Given the description of an element on the screen output the (x, y) to click on. 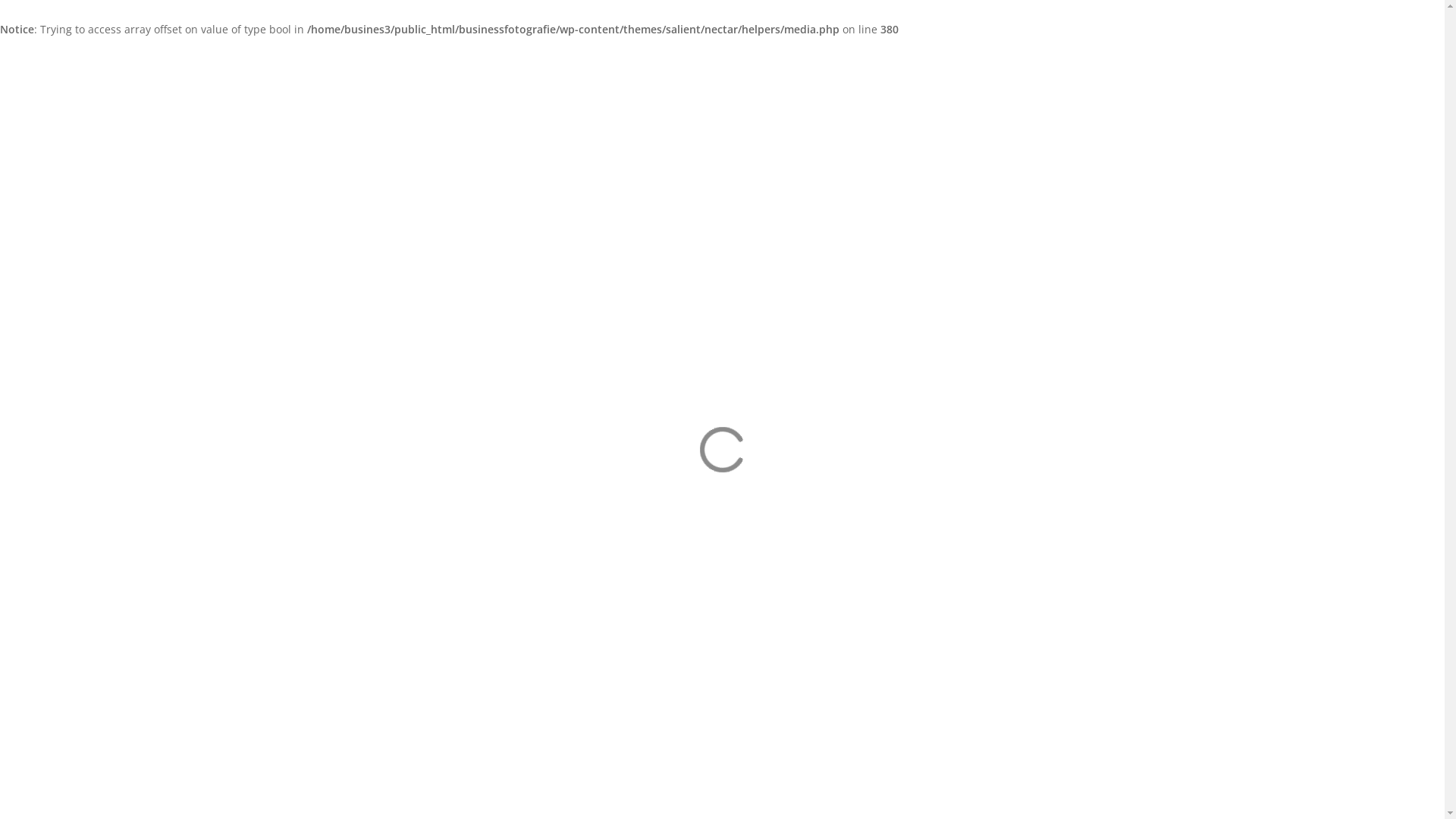
Kontaktanfrage Element type: text (911, 744)
Businessfotos Element type: text (339, 575)
Mitarbeiterfotos Element type: text (345, 615)
www.carolefleischmann.ch Element type: text (940, 669)
Fotoshootings Element type: text (339, 556)
Home Element type: text (510, 65)
Fotostudio Wetzikon Element type: text (781, 65)
Kontakt Element type: text (929, 65)
Preise Element type: text (699, 65)
Impressum Element type: text (524, 677)
AGB Element type: text (390, 697)
Portfolio Element type: text (561, 65)
Datenschutz Element type: text (336, 697)
www.business-fotografie.ch Element type: text (942, 689)
Fotoshootings Element type: text (633, 65)
Bewerbungsfotos Element type: text (348, 595)
